Given the description of an element on the screen output the (x, y) to click on. 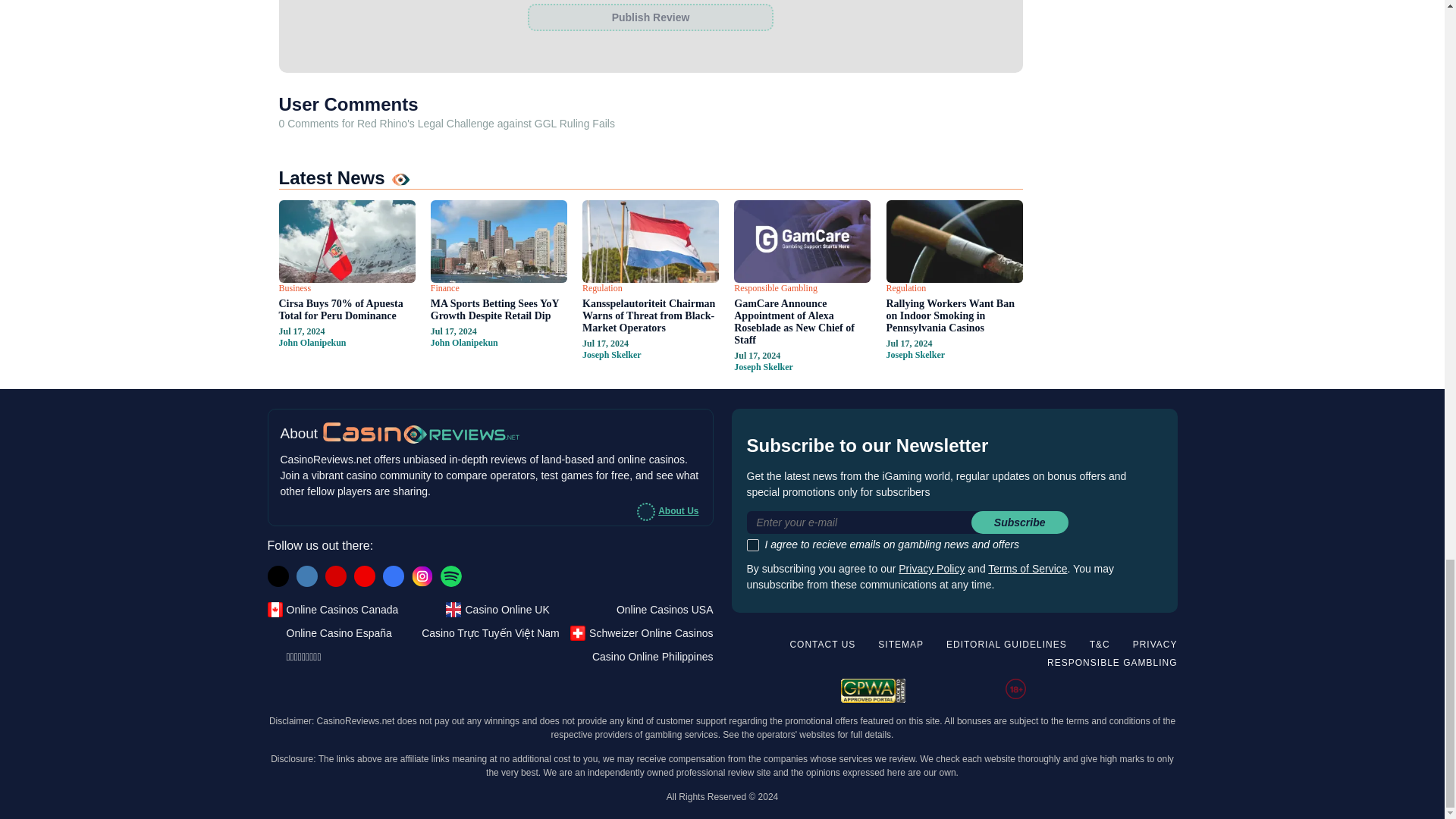
DMCA.com Protection Status (1126, 688)
Publish Review (650, 17)
Subscribe (1019, 522)
